Given the description of an element on the screen output the (x, y) to click on. 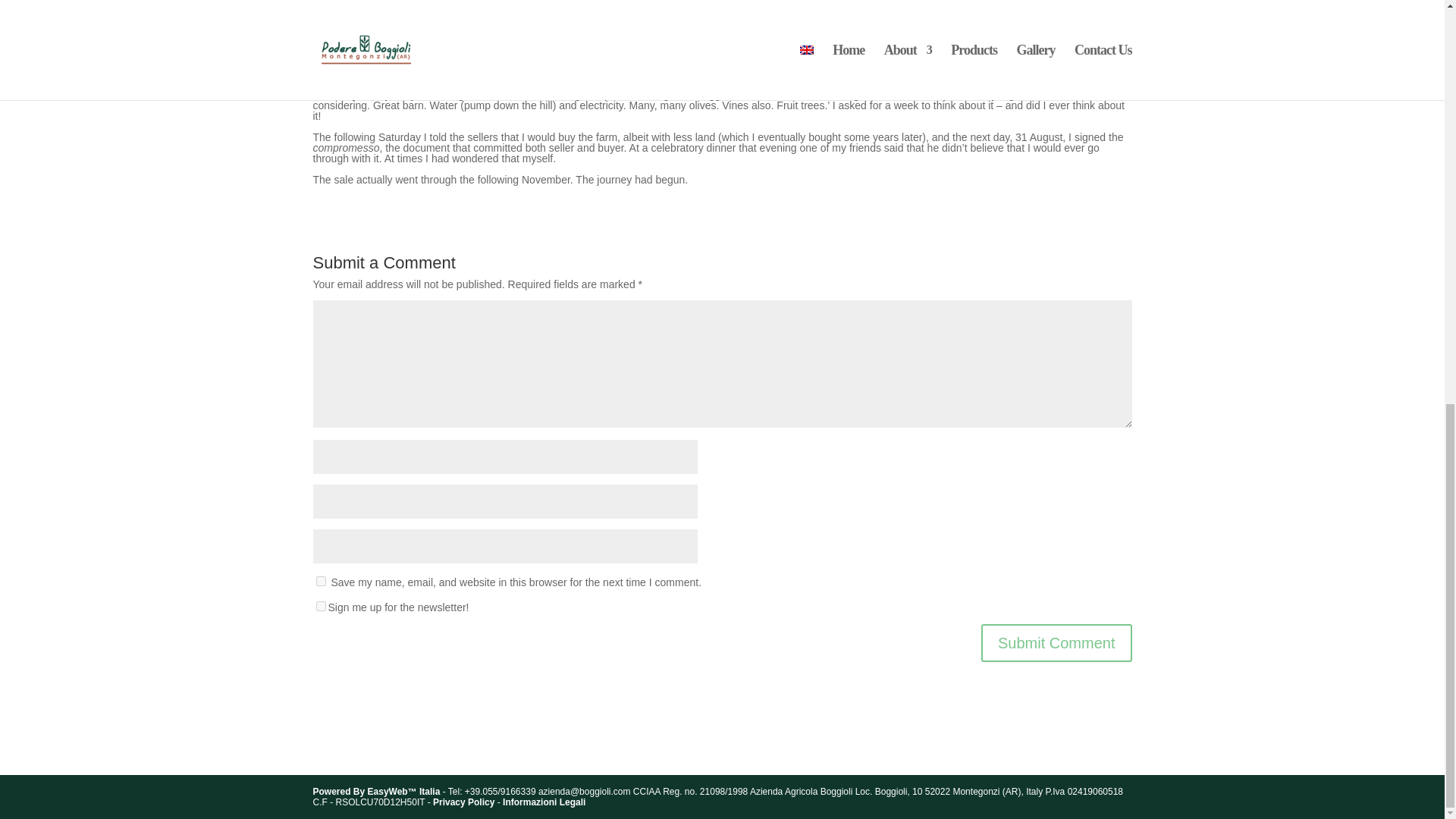
Submit Comment (1056, 642)
Privacy Policy (463, 801)
Submit Comment (1056, 642)
yes (319, 581)
1 (319, 605)
Informazioni Legali (543, 801)
